Given the description of an element on the screen output the (x, y) to click on. 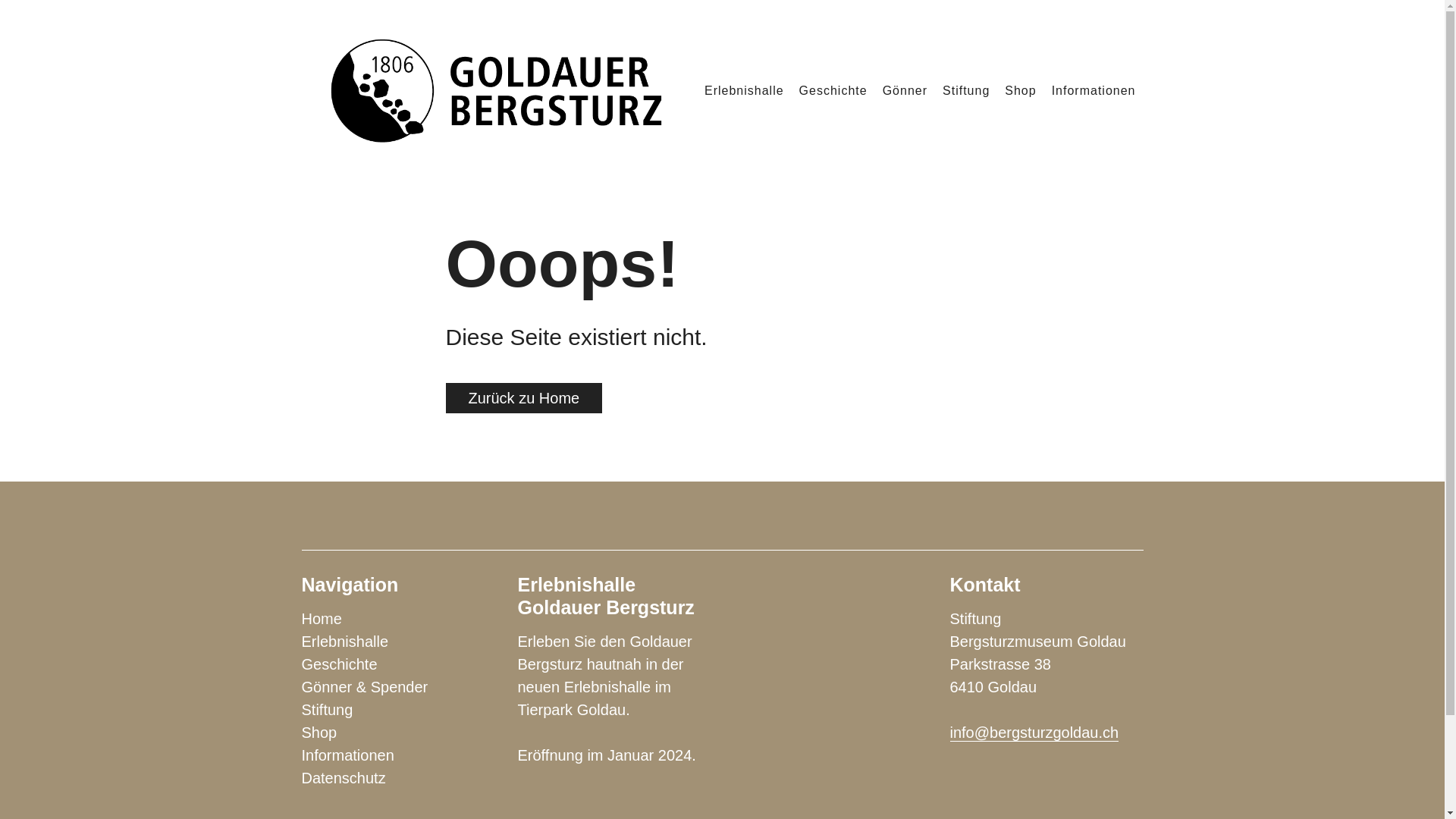
Shop Element type: text (319, 732)
Stiftung Element type: text (965, 90)
Shop Element type: text (1019, 90)
Geschichte Element type: text (339, 663)
Informationen Element type: text (347, 754)
info@bergsturzgoldau.ch Element type: text (1033, 732)
Home Element type: text (321, 618)
Erlebnishalle Element type: text (345, 641)
Informationen Element type: text (1093, 90)
Erlebnishalle Element type: text (744, 90)
Geschichte Element type: text (833, 90)
Stiftung Element type: text (327, 709)
Datenschutz Element type: text (343, 777)
